Given the description of an element on the screen output the (x, y) to click on. 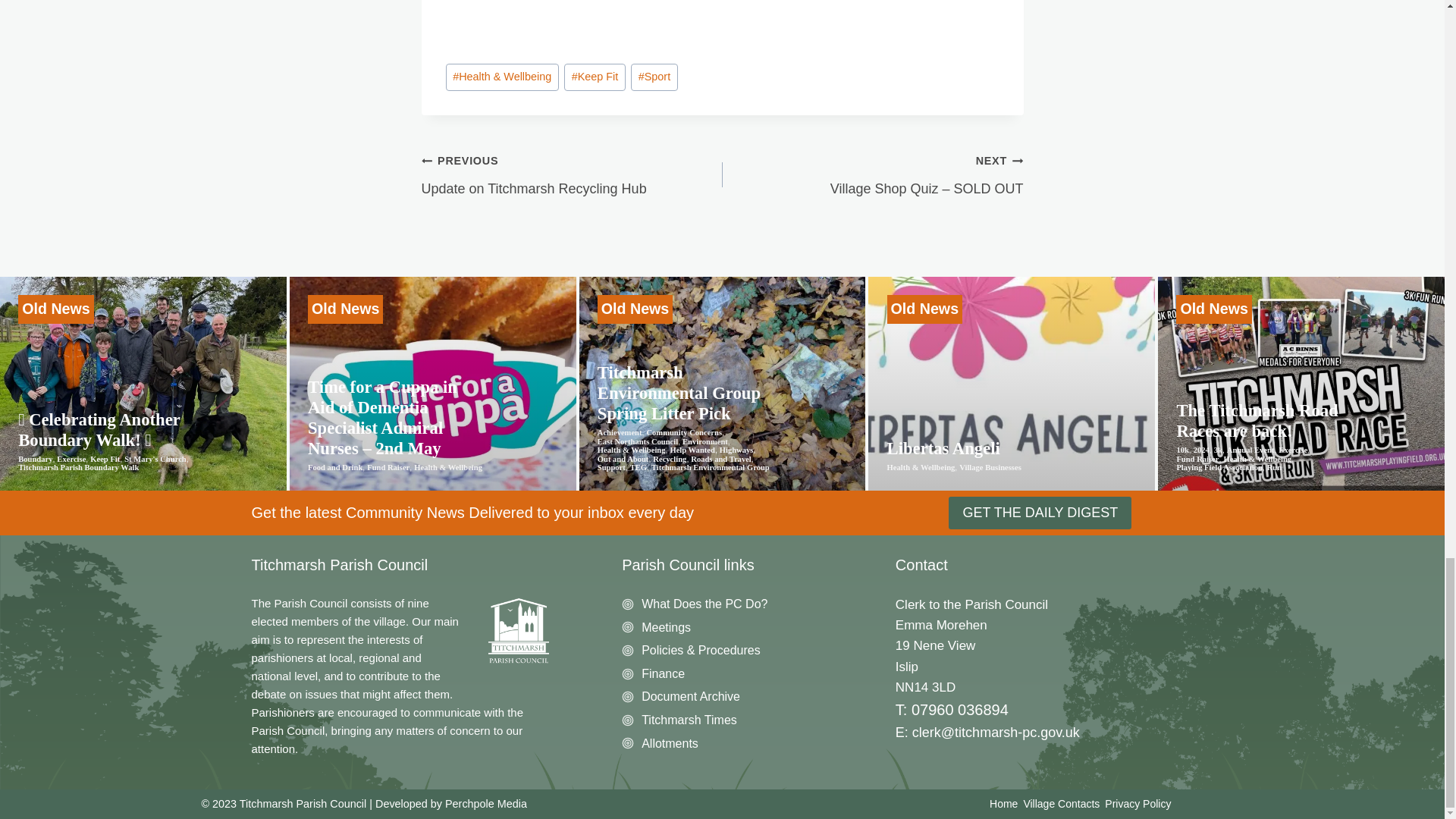
Sport (654, 77)
Keep Fit (595, 77)
